Given the description of an element on the screen output the (x, y) to click on. 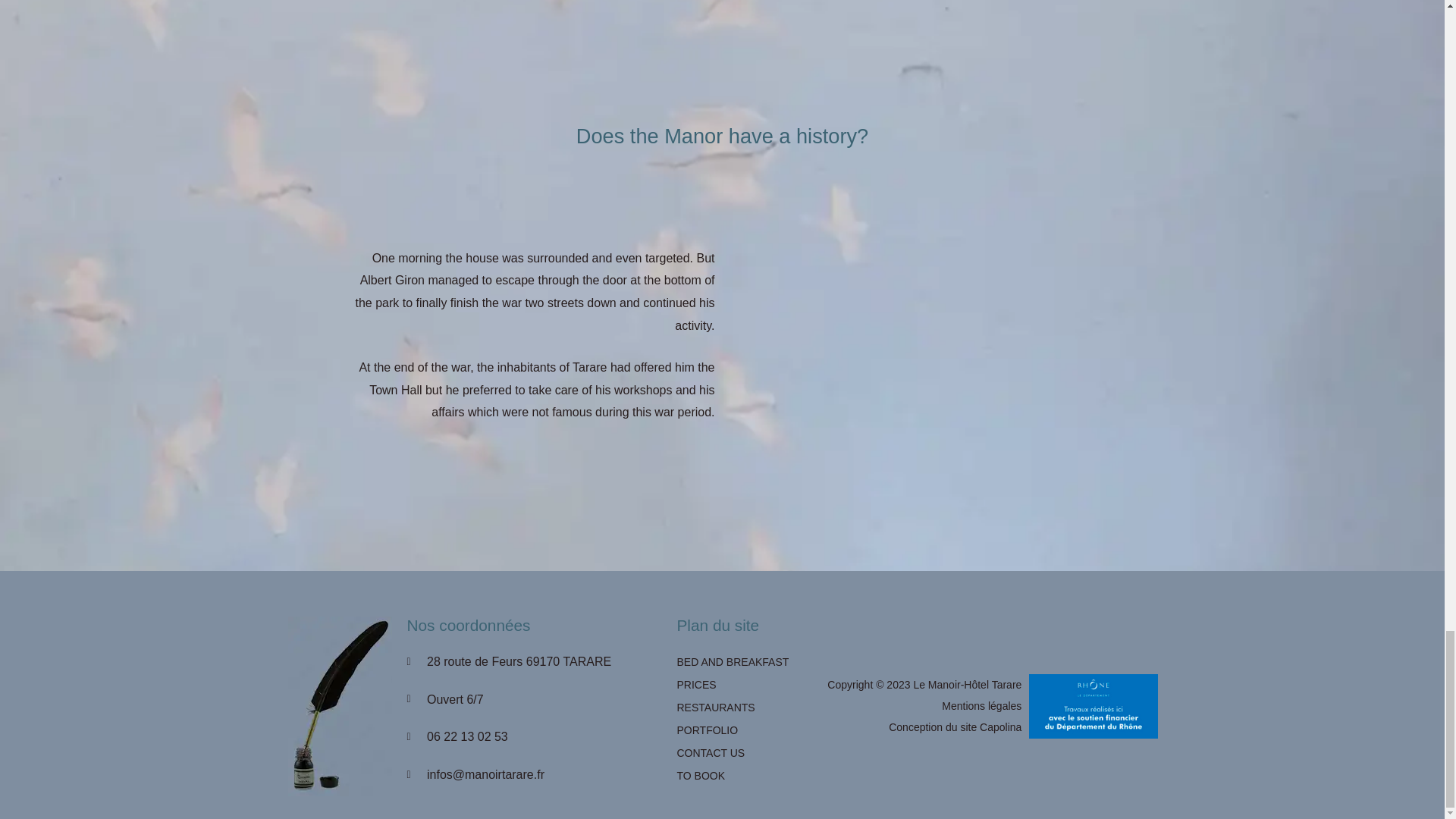
TO BOOK (735, 775)
RESTAURANTS (735, 707)
PORTFOLIO (735, 730)
CONTACT US (735, 753)
BED AND BREAKFAST (735, 661)
PRICES (735, 684)
